Given the description of an element on the screen output the (x, y) to click on. 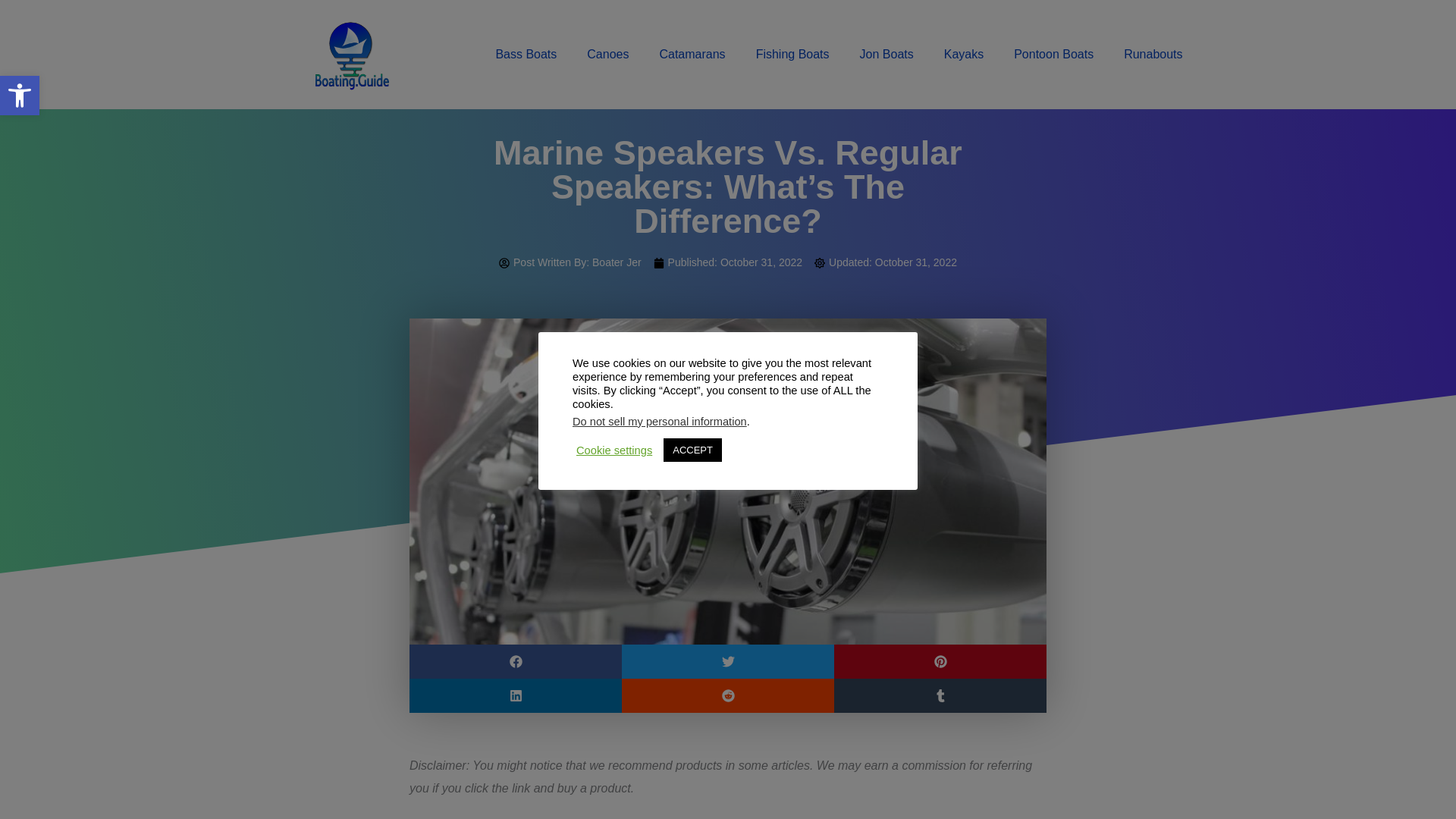
Published: October 31, 2022 (727, 262)
Catamarans (691, 54)
Runabouts (1152, 54)
Accessibility Tools (19, 95)
Accessibility Tools (19, 95)
Kayaks (963, 54)
Pontoon Boats (1053, 54)
Post Written By: Boater Jer (570, 262)
Jon Boats (886, 54)
Fishing Boats (792, 54)
